Given the description of an element on the screen output the (x, y) to click on. 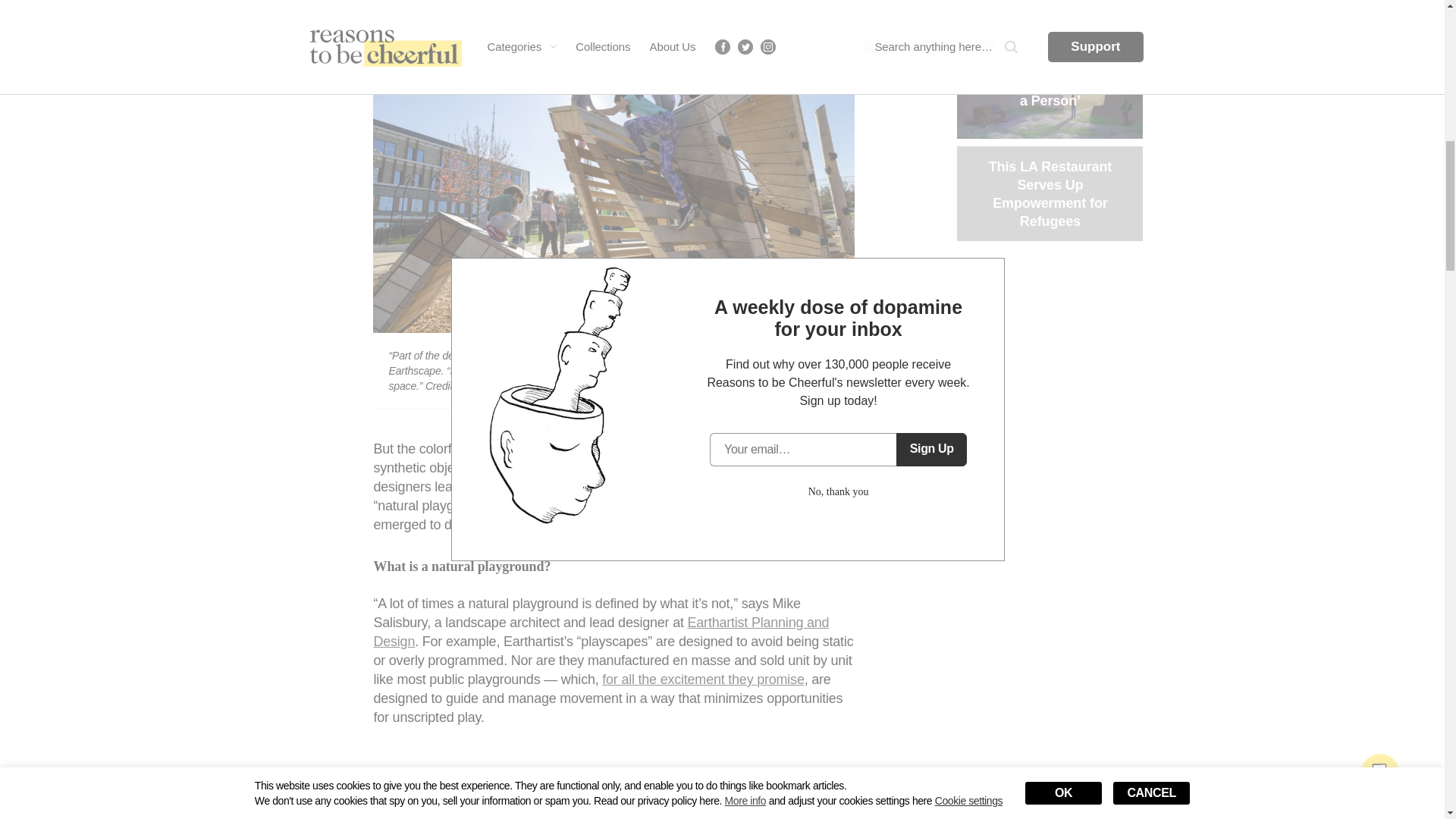
for all the excitement they promise (702, 679)
Earthartist Planning and Design (600, 632)
